Given the description of an element on the screen output the (x, y) to click on. 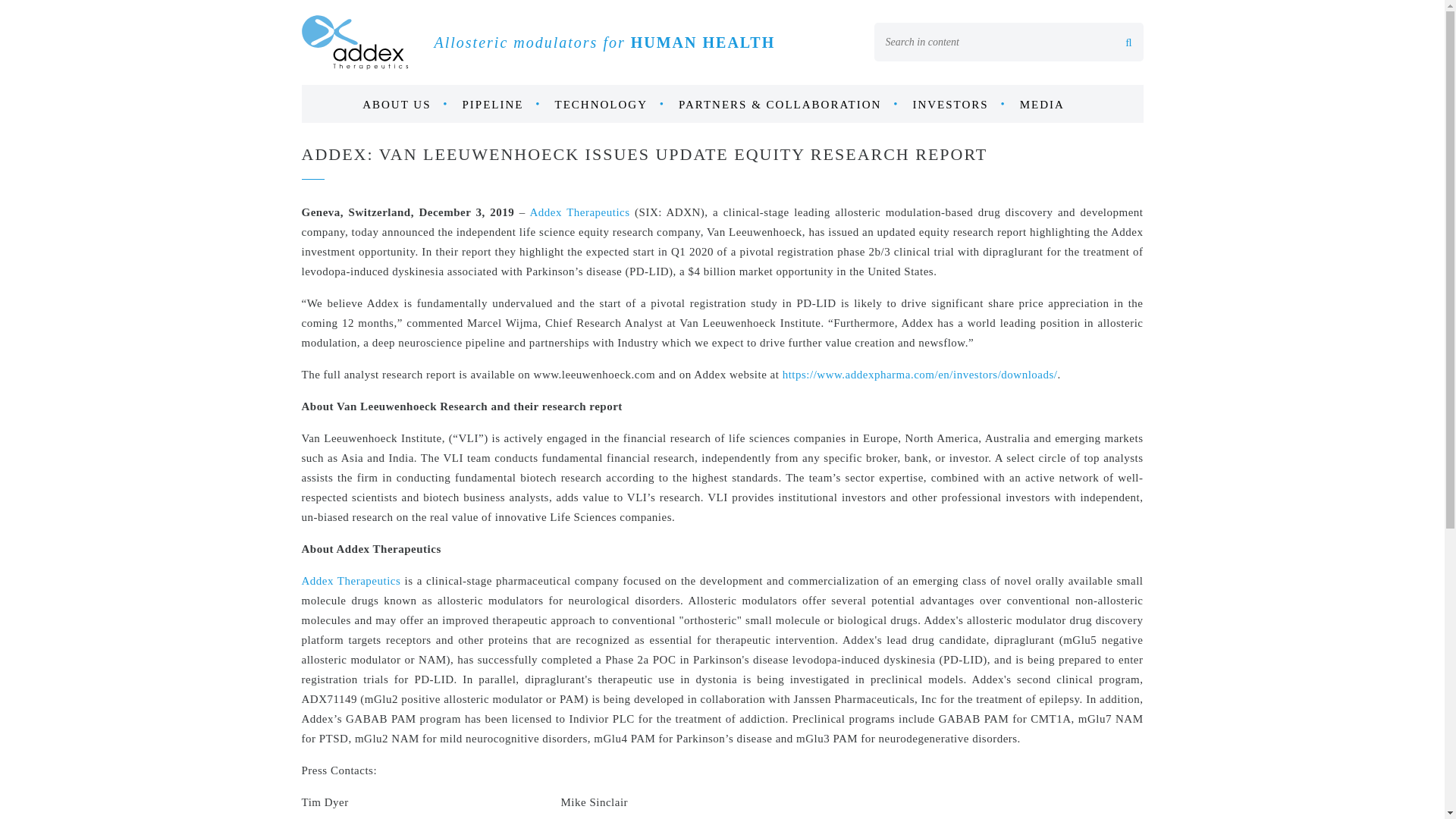
TECHNOLOGY (609, 104)
ABOUT US (405, 104)
Addex Therapeutics (351, 580)
INVESTORS (959, 104)
Addex Therapeutics (578, 212)
MEDIA (1050, 104)
PIPELINE (502, 104)
